Given the description of an element on the screen output the (x, y) to click on. 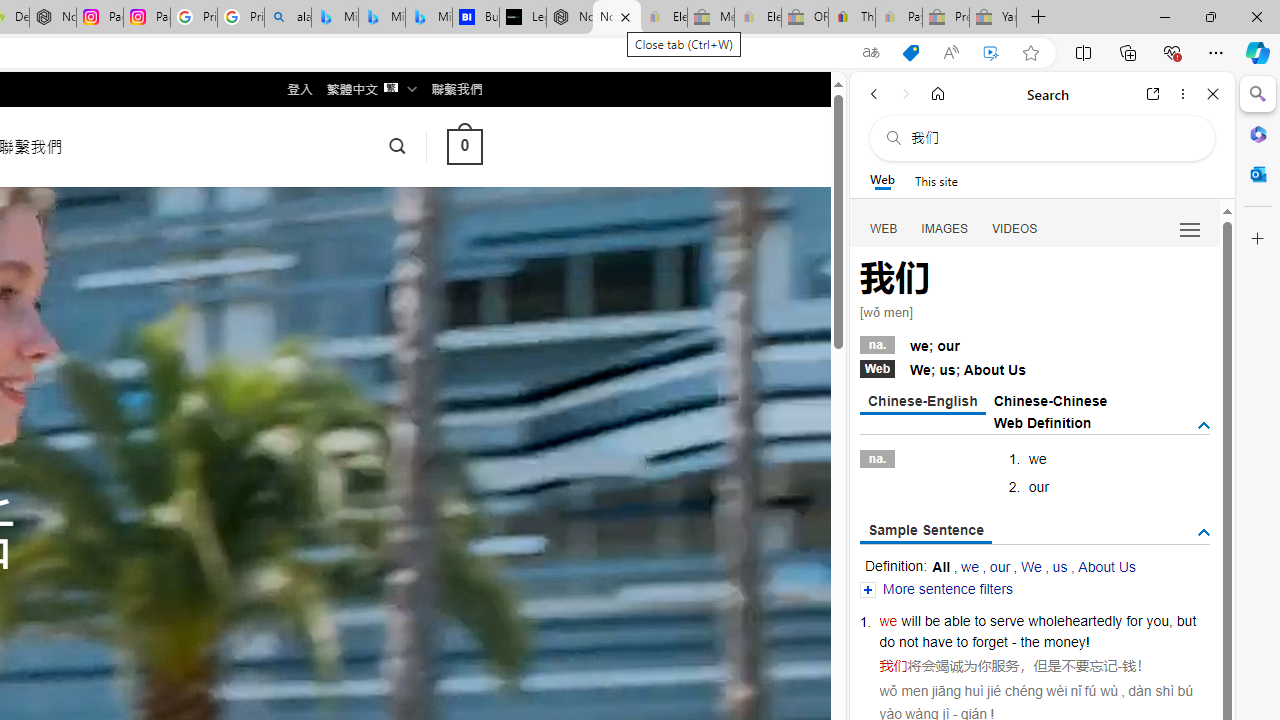
WEB (884, 228)
- (1119, 665)
Show translate options (870, 53)
be (932, 620)
serve (1007, 620)
us (1059, 566)
